Given the description of an element on the screen output the (x, y) to click on. 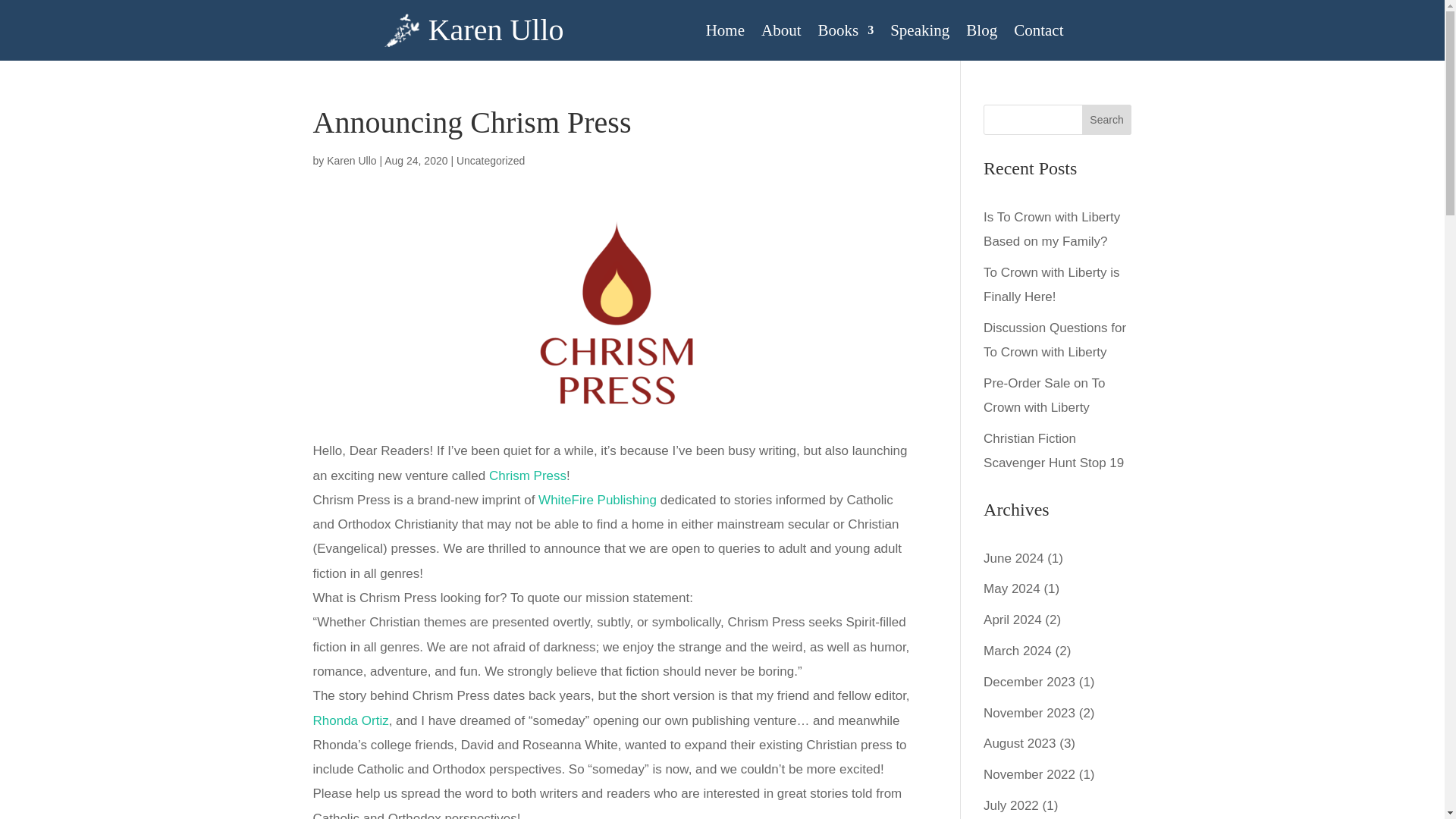
June 2024 (1013, 558)
Christian Fiction Scavenger Hunt Stop 19 (1054, 450)
December 2023 (1029, 681)
Search (1106, 119)
To Crown with Liberty is Finally Here! (1051, 284)
Is To Crown with Liberty Based on my Family? (1051, 228)
Discussion Questions for To Crown with Liberty (1054, 340)
Books (844, 42)
April 2024 (1013, 619)
Speaking (919, 42)
Contact (1037, 42)
March 2024 (1017, 650)
Pre-Order Sale on To Crown with Liberty (1044, 394)
Posts by Karen Ullo (350, 160)
Karen Ullo (350, 160)
